Given the description of an element on the screen output the (x, y) to click on. 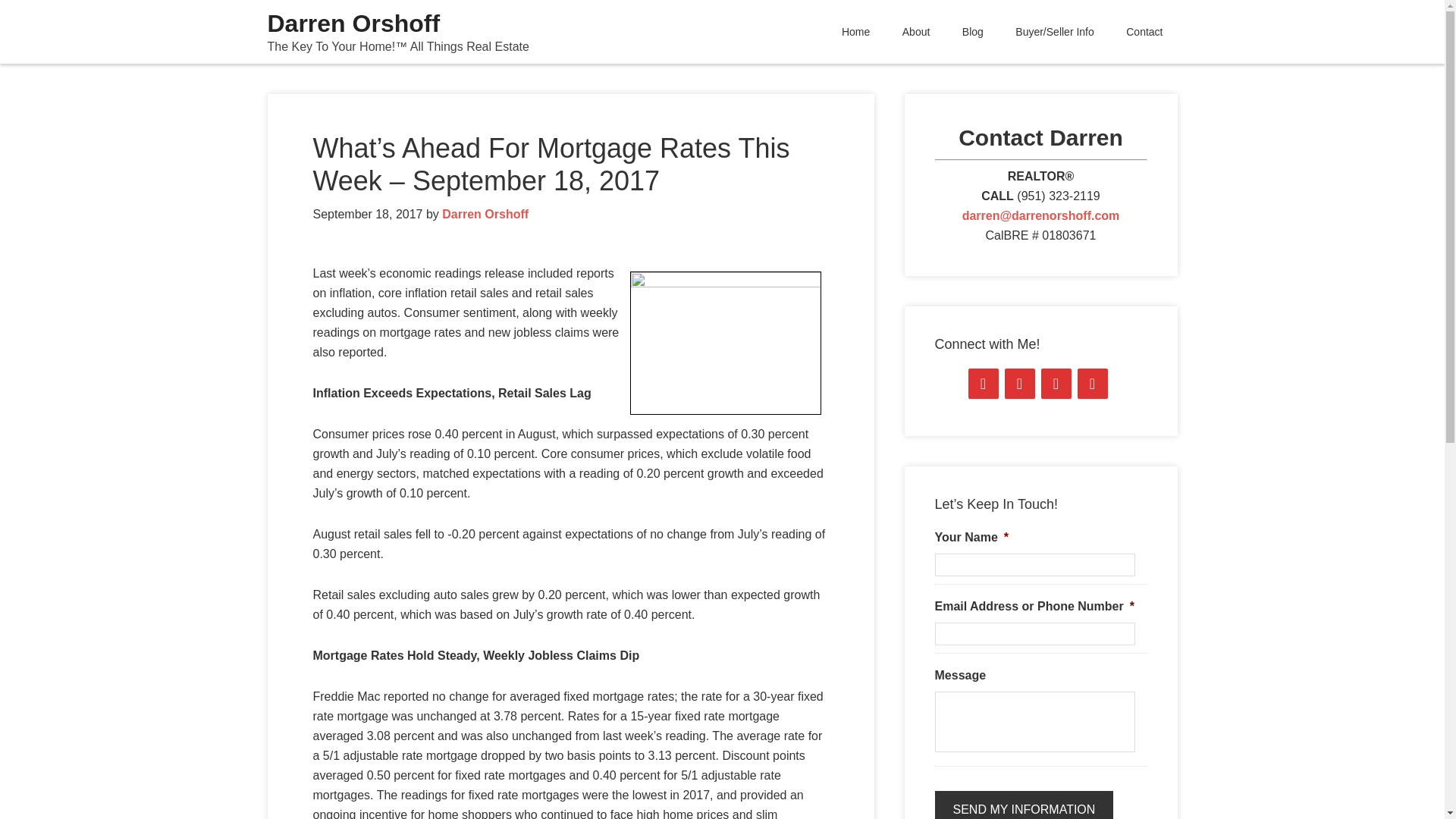
Contact (1144, 31)
Darren Orshoff (485, 214)
Send My Information (1023, 805)
About (916, 31)
Send My Information (1023, 805)
Blog (972, 31)
Darren Orshoff (352, 22)
Home (855, 31)
